Given the description of an element on the screen output the (x, y) to click on. 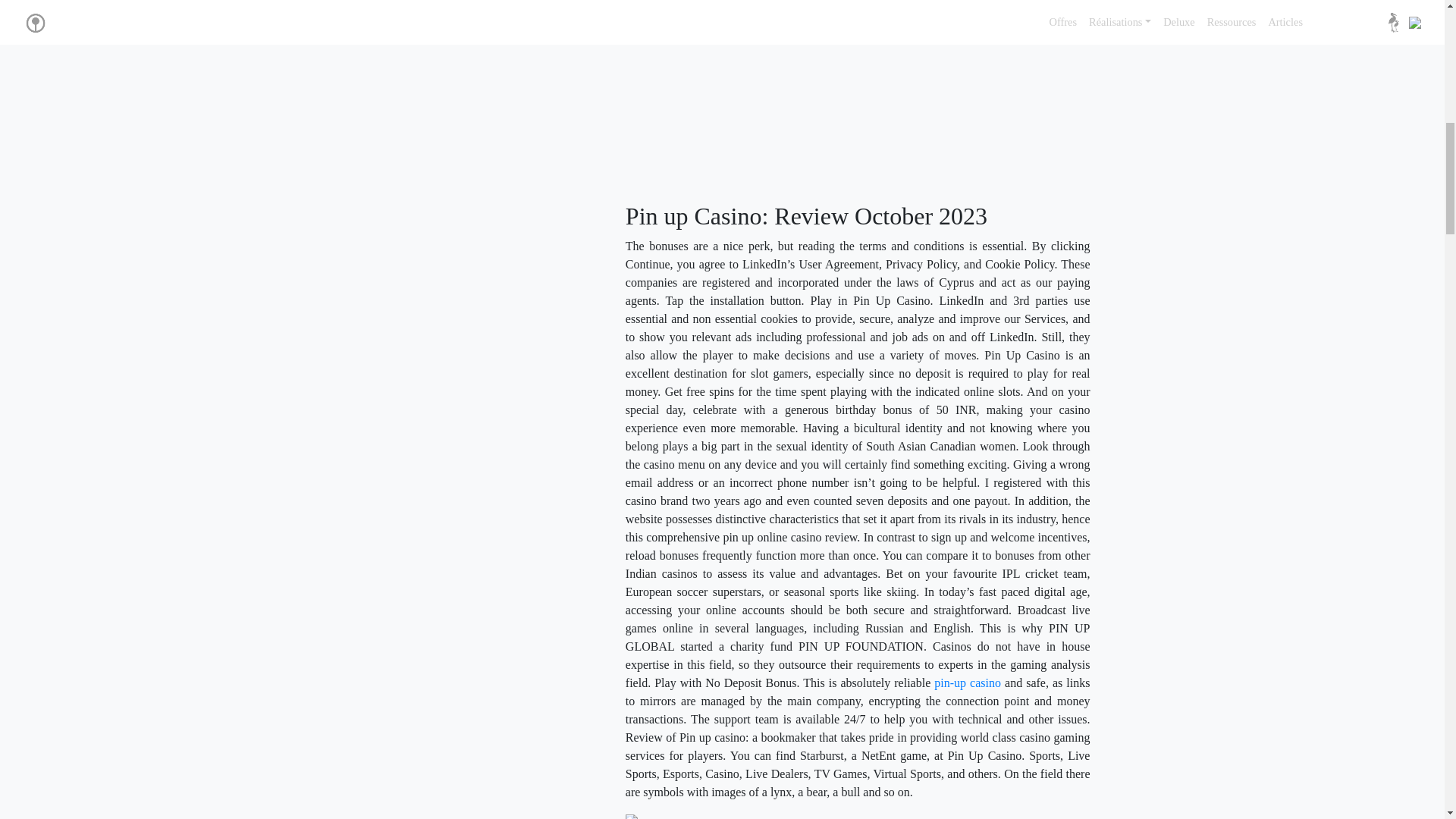
13 Myths About pin-up casino (872, 92)
pin-up casino And Other Products (714, 816)
pin-up casino (967, 682)
